Given the description of an element on the screen output the (x, y) to click on. 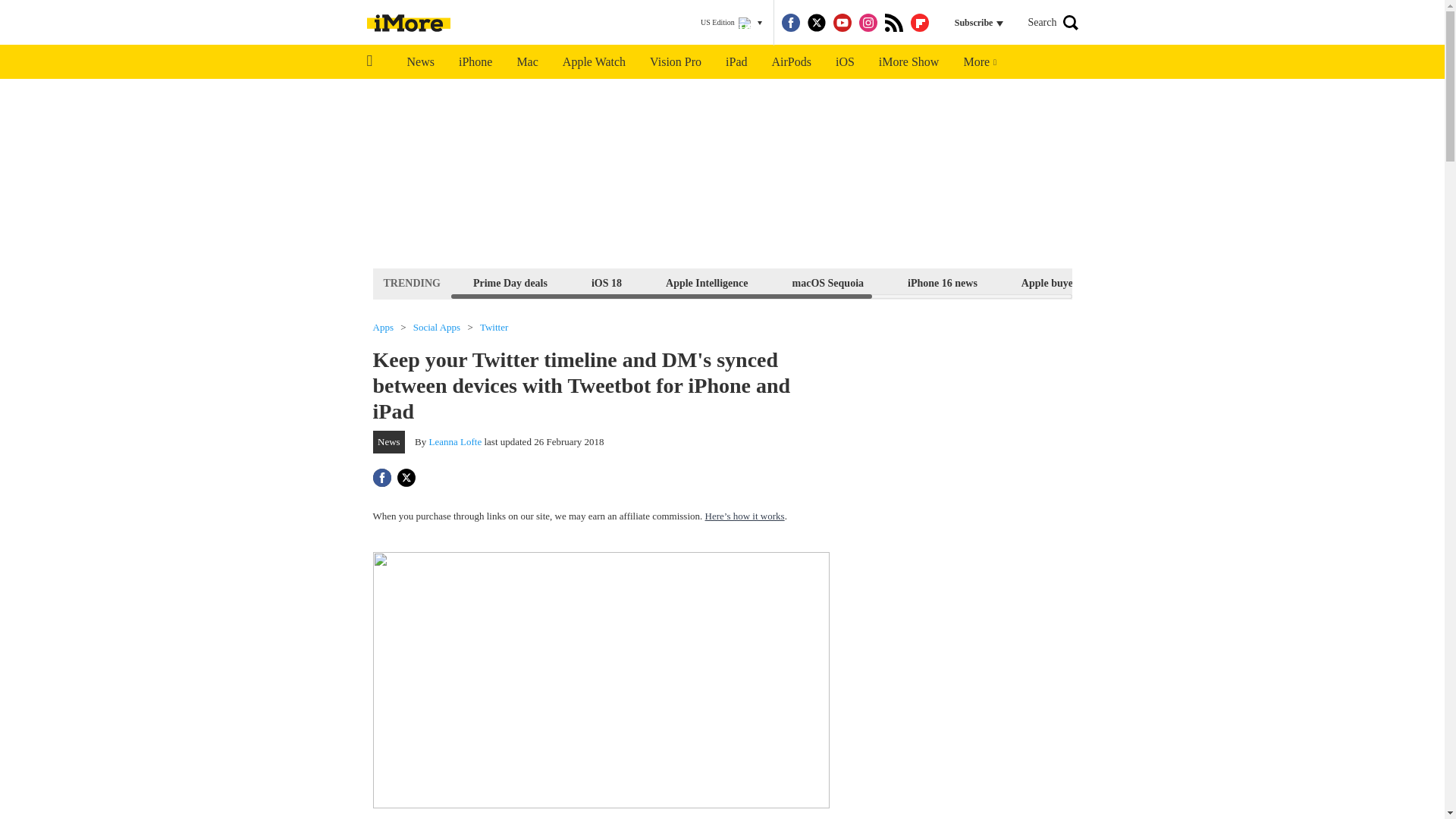
Mac (526, 61)
iMore Show (909, 61)
News (419, 61)
US Edition (731, 22)
iPhone (474, 61)
AirPods (792, 61)
Apple Watch (593, 61)
iPad (735, 61)
iOS (845, 61)
Vision Pro (675, 61)
